Given the description of an element on the screen output the (x, y) to click on. 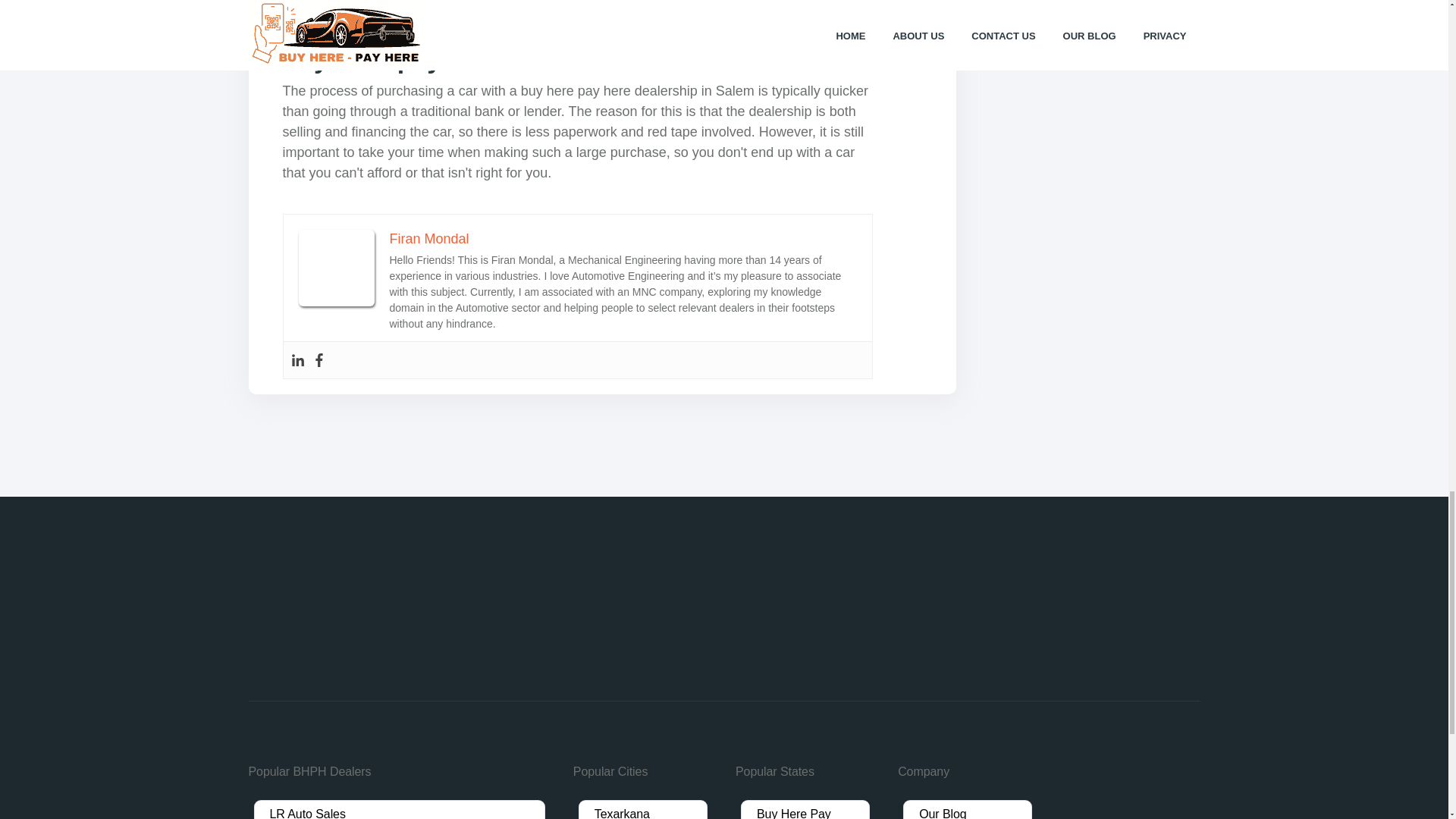
Firan Mondal (429, 239)
